Given the description of an element on the screen output the (x, y) to click on. 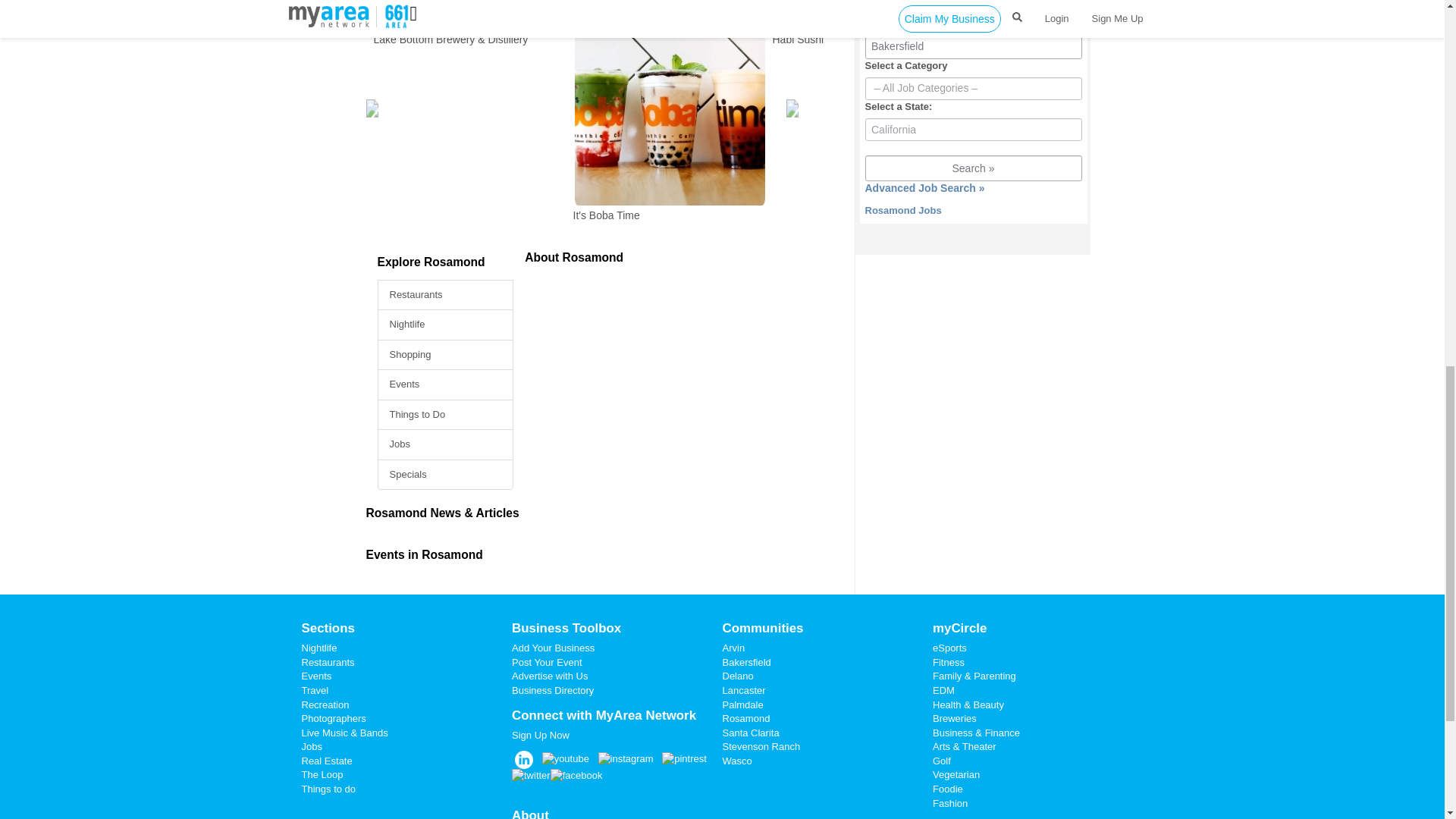
Bakersfield (972, 46)
